Given the description of an element on the screen output the (x, y) to click on. 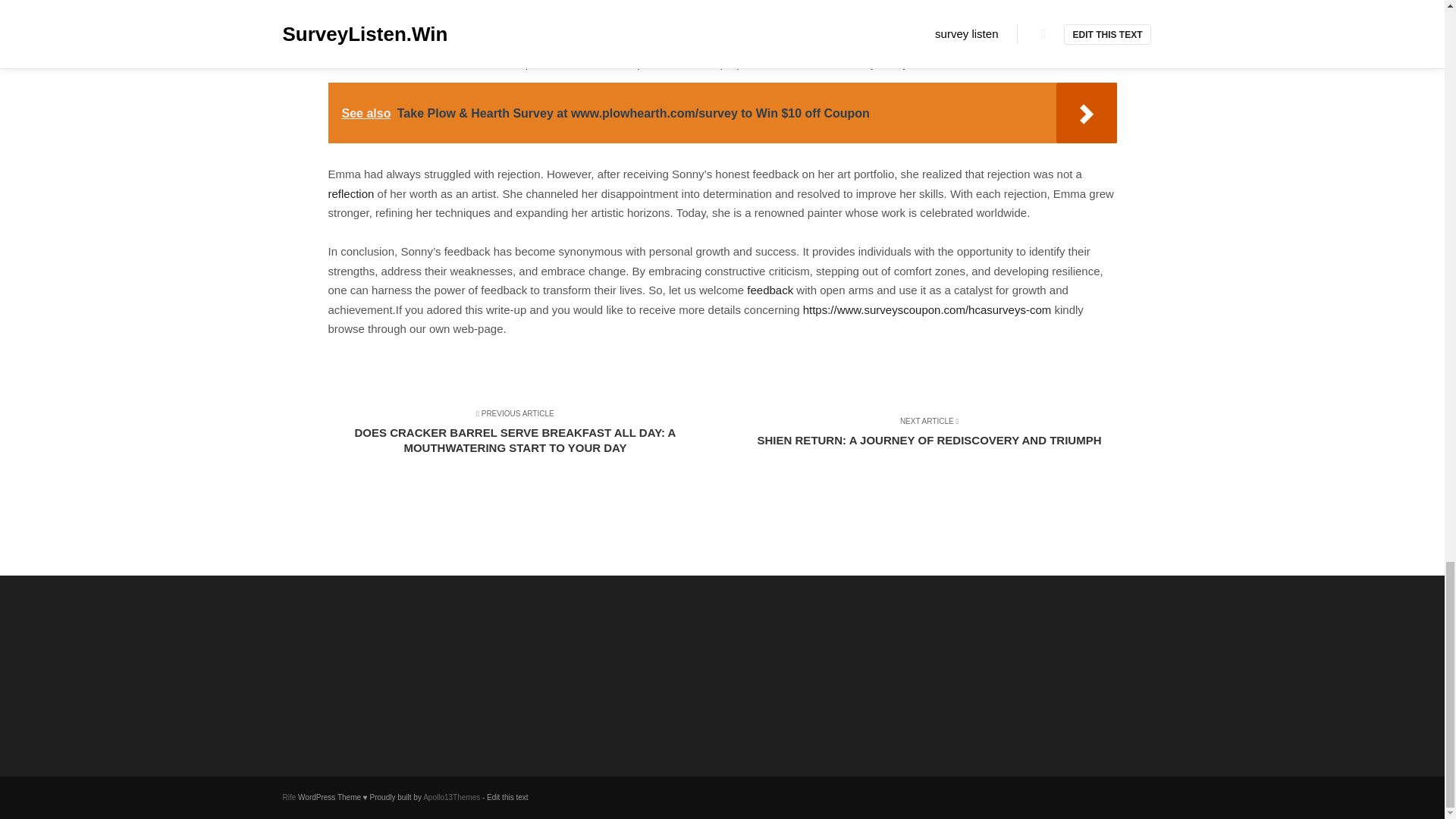
feedback (769, 289)
Rife (288, 797)
reflection (350, 193)
Apollo13Themes (451, 797)
